Given the description of an element on the screen output the (x, y) to click on. 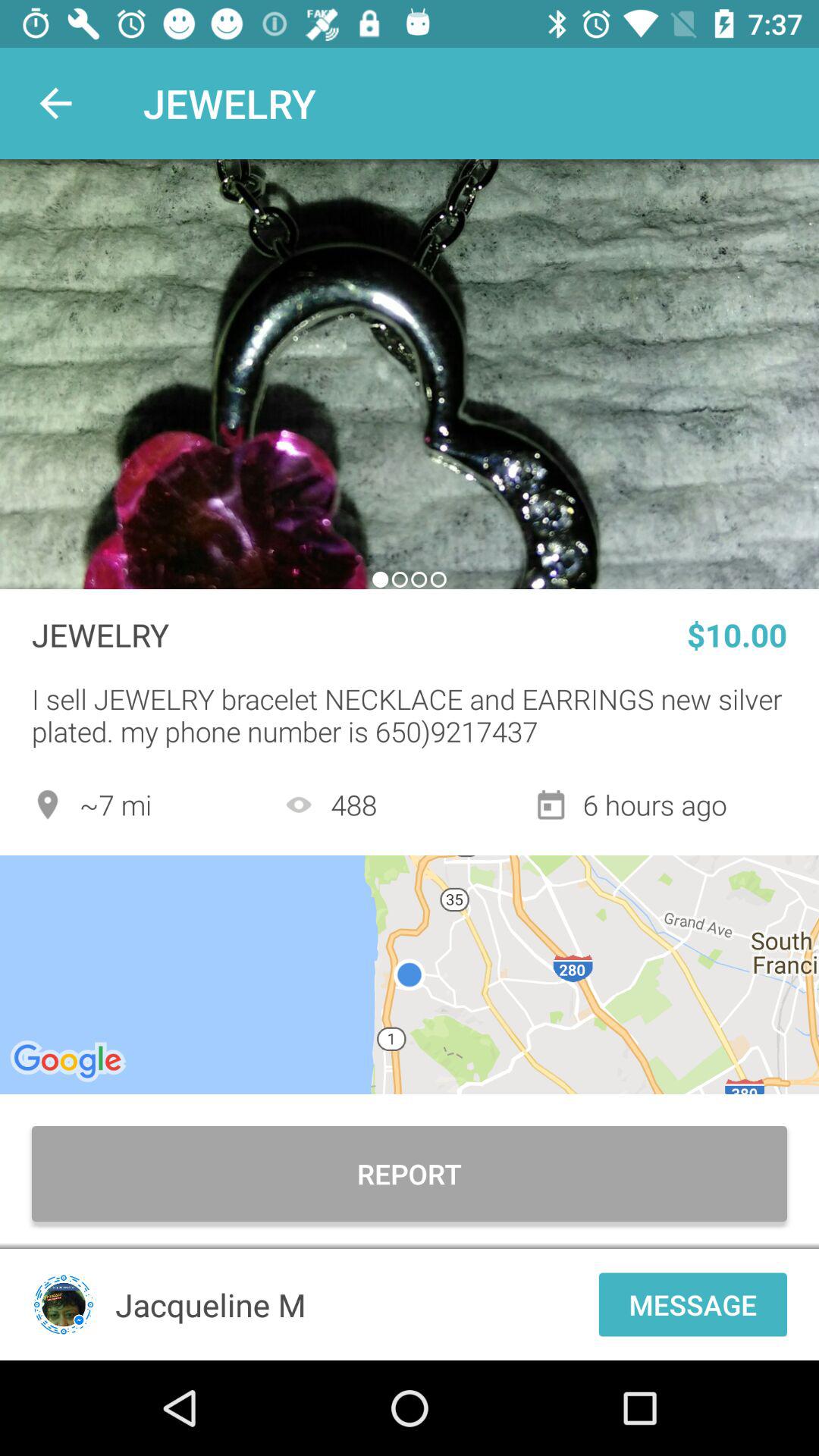
photo slide (409, 374)
